Given the description of an element on the screen output the (x, y) to click on. 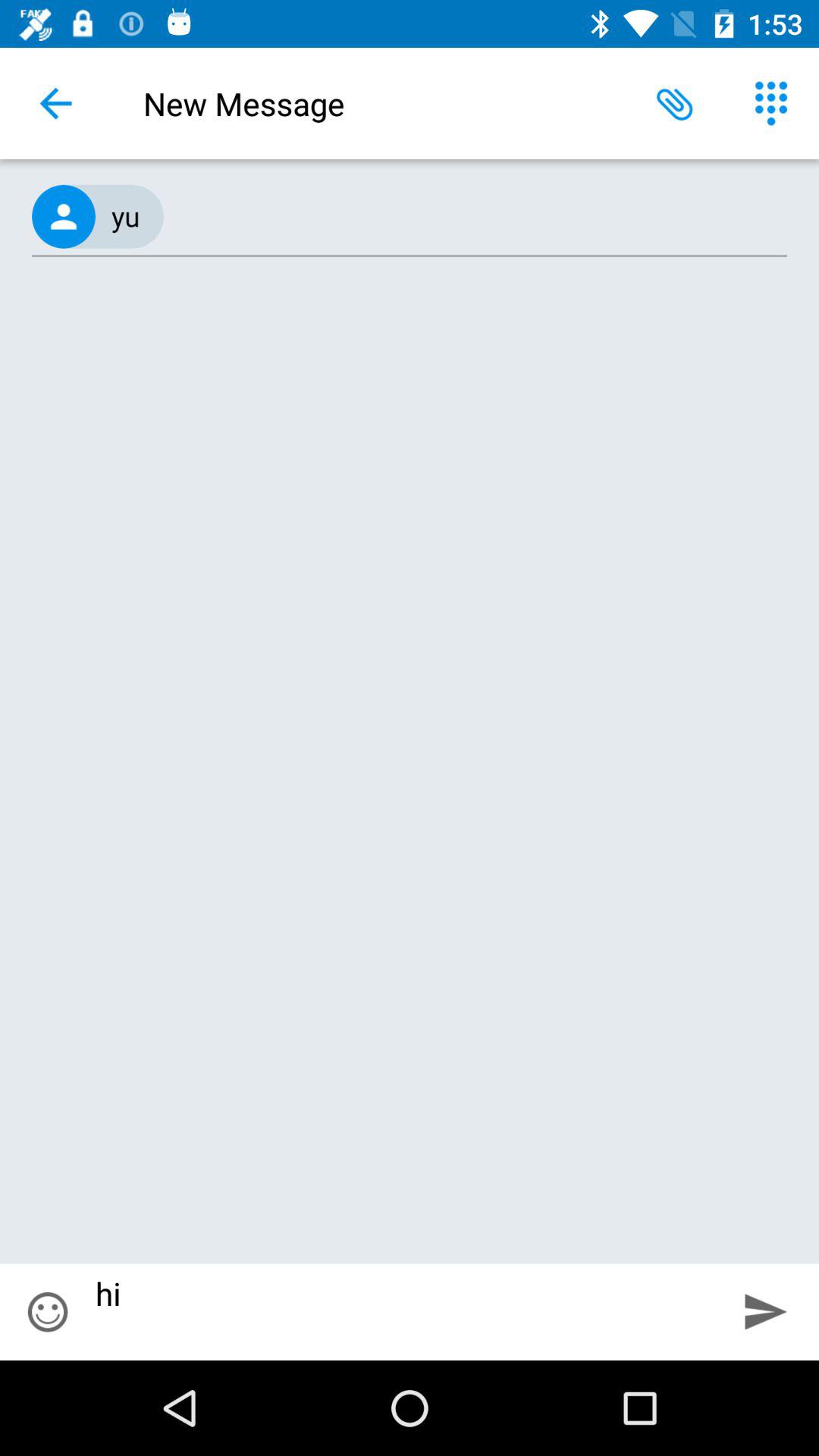
choose the icon above (667) 676-5778,  icon (675, 103)
